Given the description of an element on the screen output the (x, y) to click on. 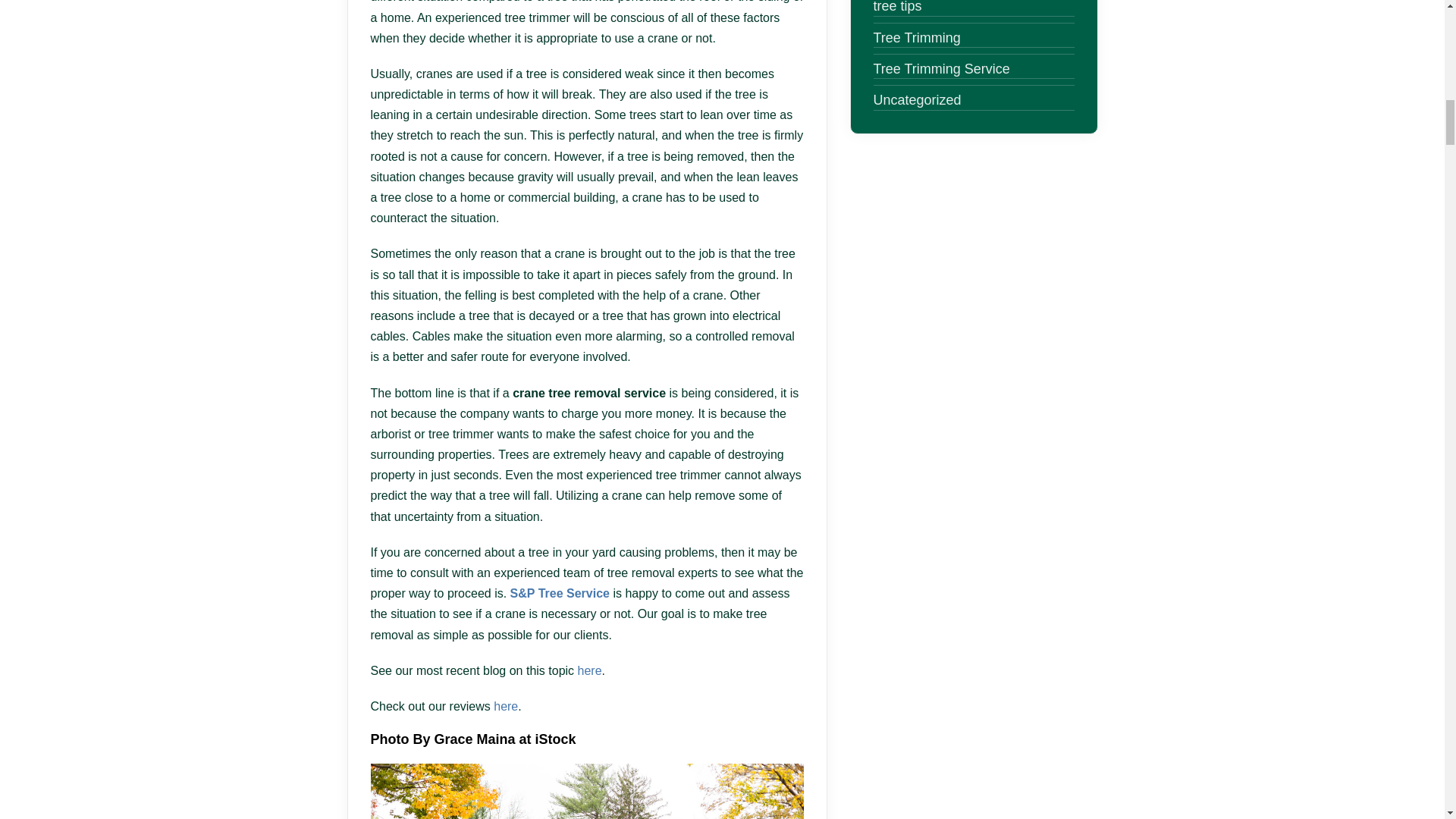
here (590, 670)
here (505, 706)
